Given the description of an element on the screen output the (x, y) to click on. 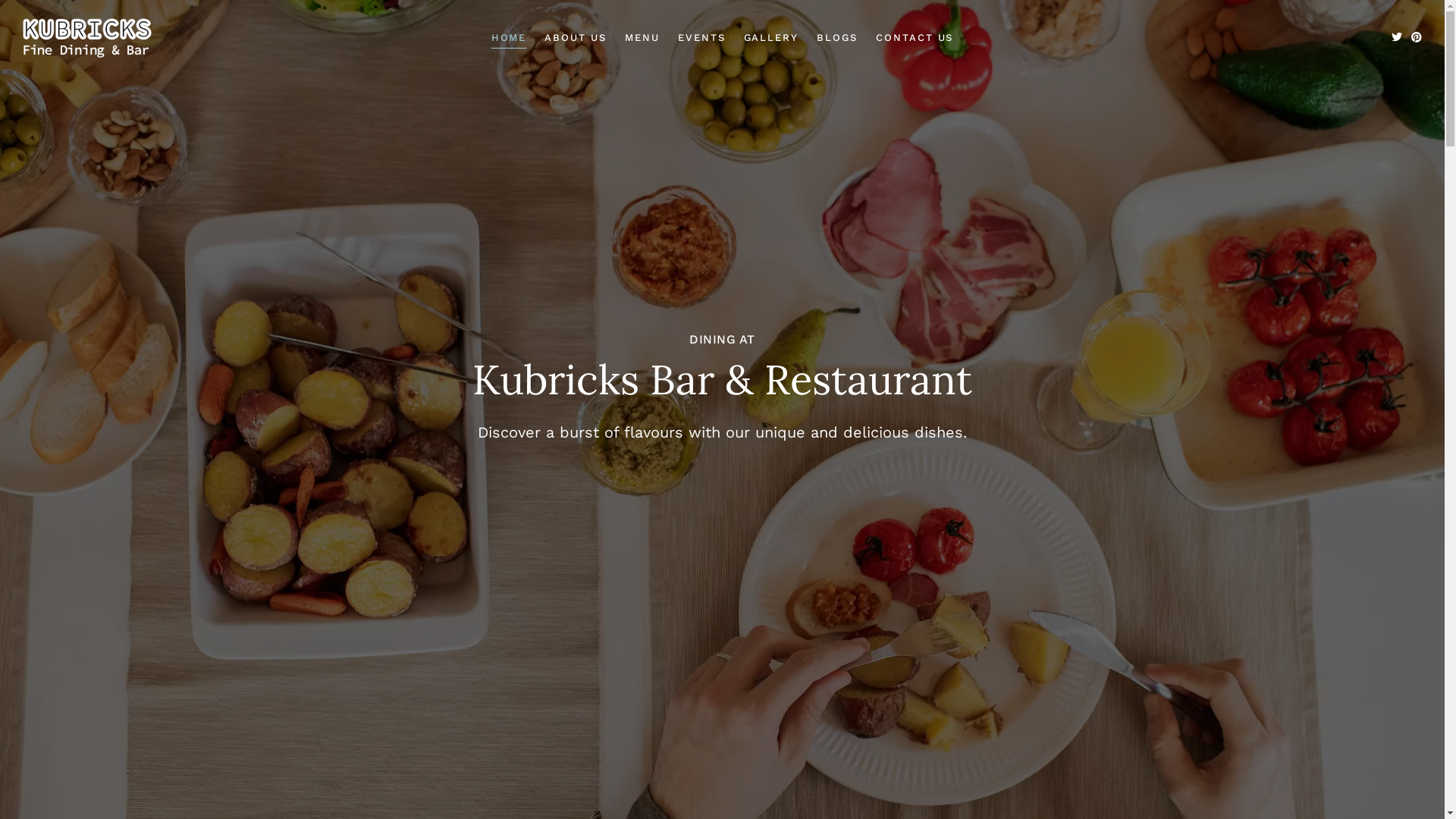
MENU Element type: text (641, 37)
GALLERY Element type: text (771, 37)
BLOGS Element type: text (836, 37)
HOME Element type: text (509, 37)
EVENTS Element type: text (701, 37)
ABOUT US Element type: text (575, 37)
CONTACT US Element type: text (914, 37)
